Given the description of an element on the screen output the (x, y) to click on. 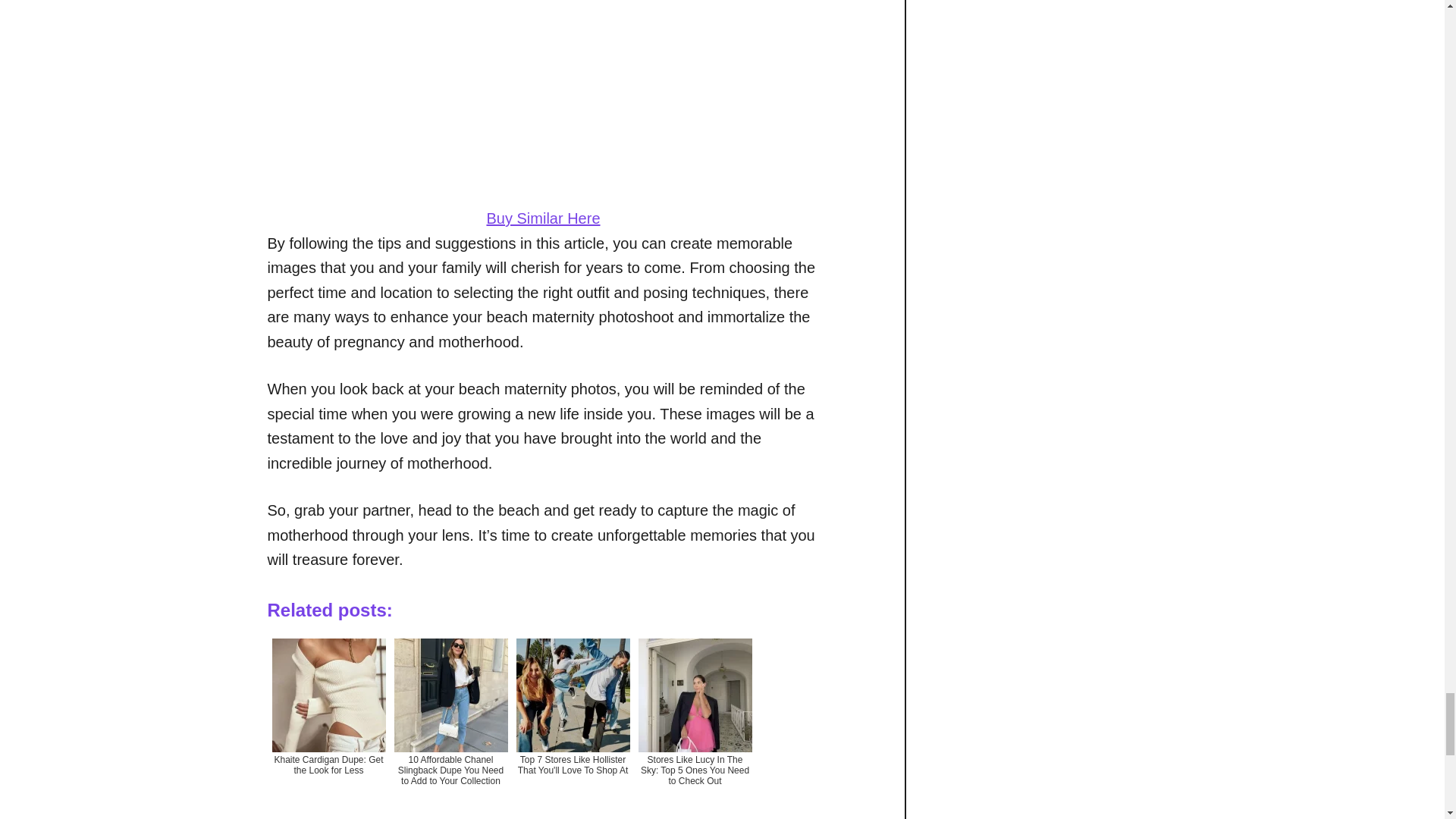
Khaite Cardigan Dupe: Get the Look for Less (328, 723)
Top 7 Stores Like Hollister That You'll Love To Shop At (572, 723)
Buy Similar Here (542, 217)
